Given the description of an element on the screen output the (x, y) to click on. 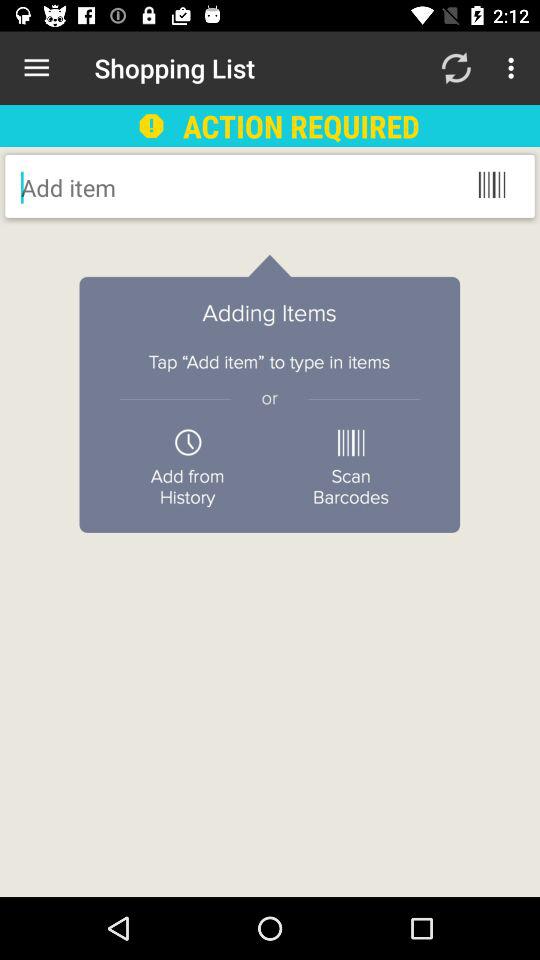
open the item to the right of action required icon (455, 67)
